Given the description of an element on the screen output the (x, y) to click on. 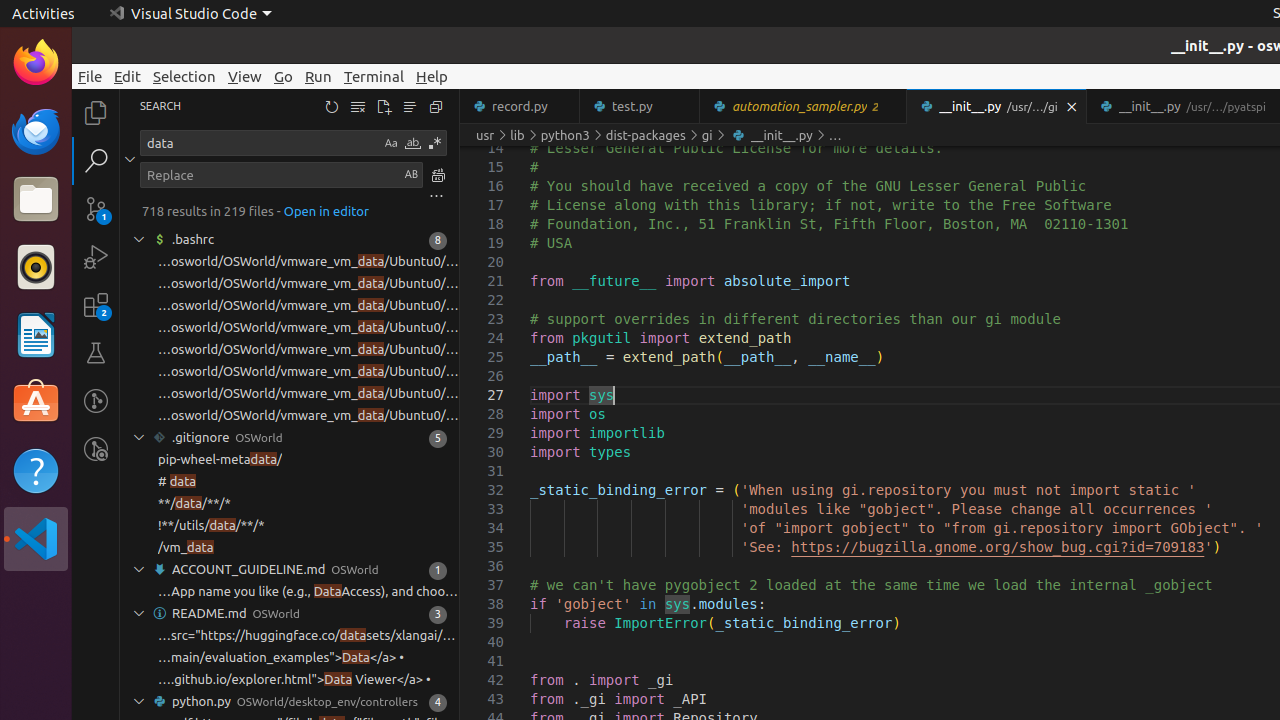
'# data' at column 3 found data Element type: tree-item (289, 481)
 Element type: push-button (130, 159)
Terminal Element type: push-button (374, 76)
Collapse All Element type: push-button (436, 106)
